Given the description of an element on the screen output the (x, y) to click on. 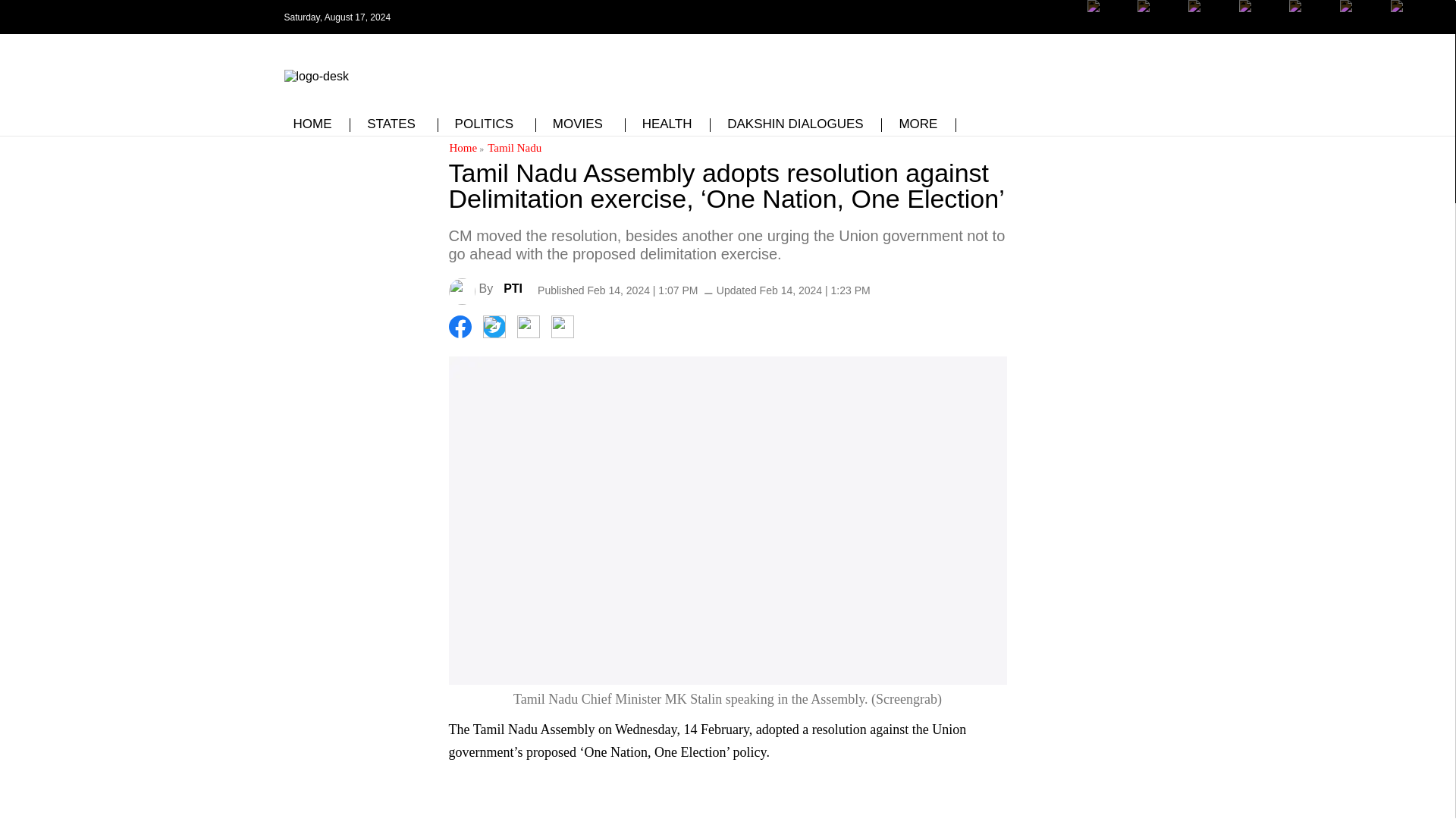
SouthFirst facebook (1108, 27)
logo-desk (315, 76)
logo (315, 72)
SouthFirst youtube (1309, 27)
SouthFirst twitter (1158, 27)
SouthFirst youtube (1309, 16)
SouthFirst youtube (1260, 27)
SouthFirst youtube (1260, 16)
SouthFirst instagram (1209, 27)
SouthFirst twitter (1158, 16)
